Given the description of an element on the screen output the (x, y) to click on. 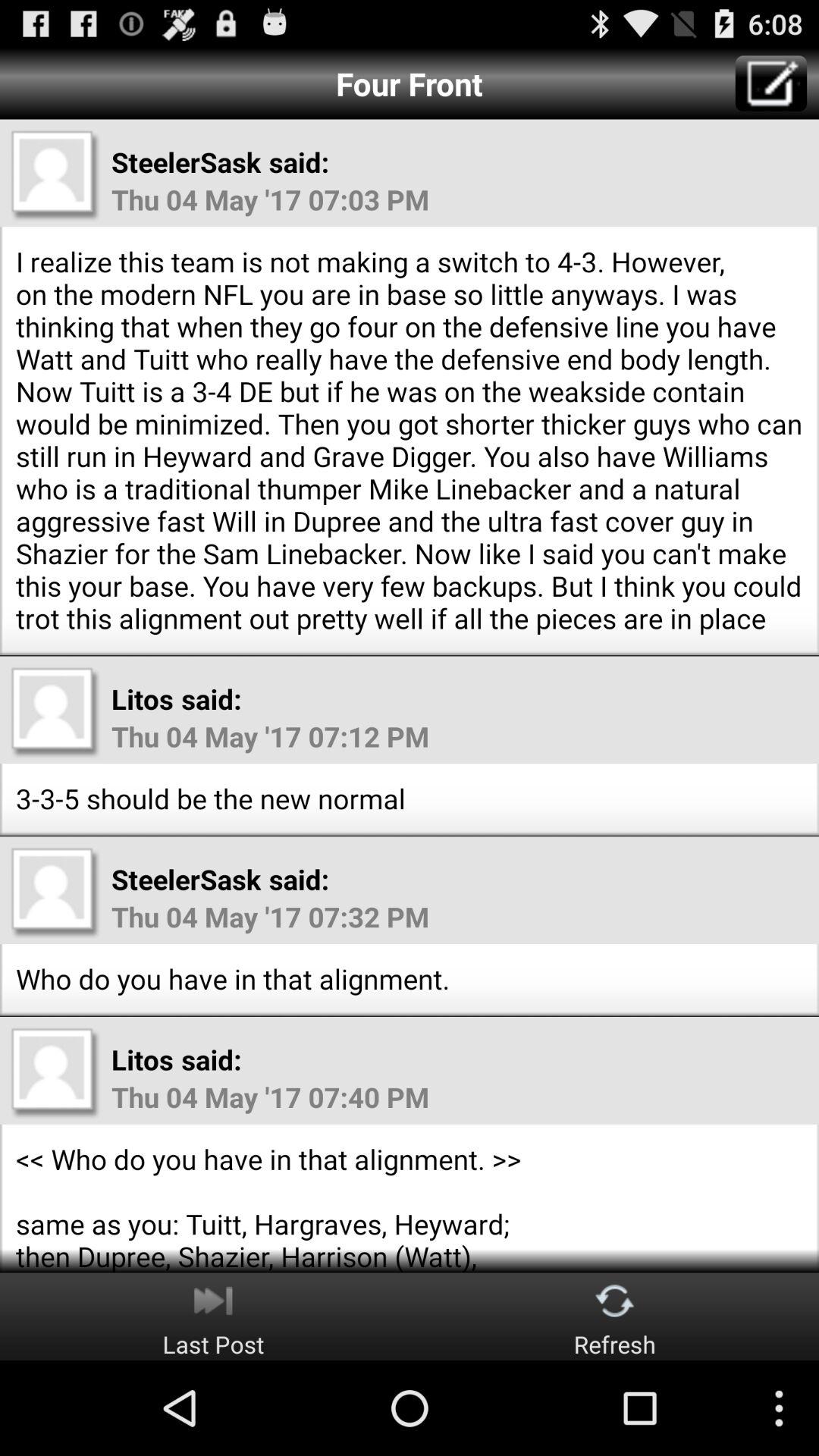
scroll until the refresh (615, 1316)
